Given the description of an element on the screen output the (x, y) to click on. 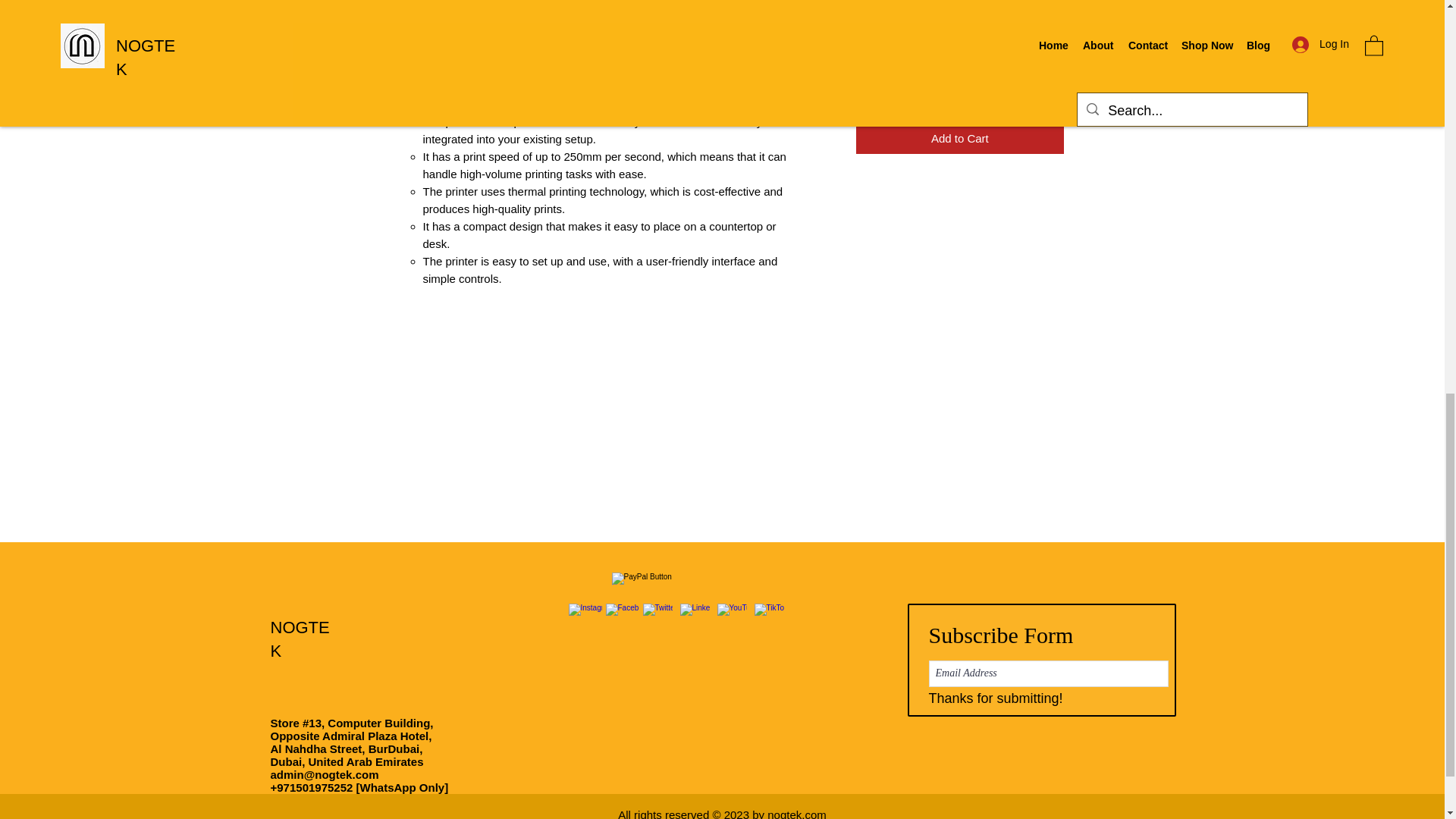
1 (893, 83)
Add to Cart (959, 138)
